Given the description of an element on the screen output the (x, y) to click on. 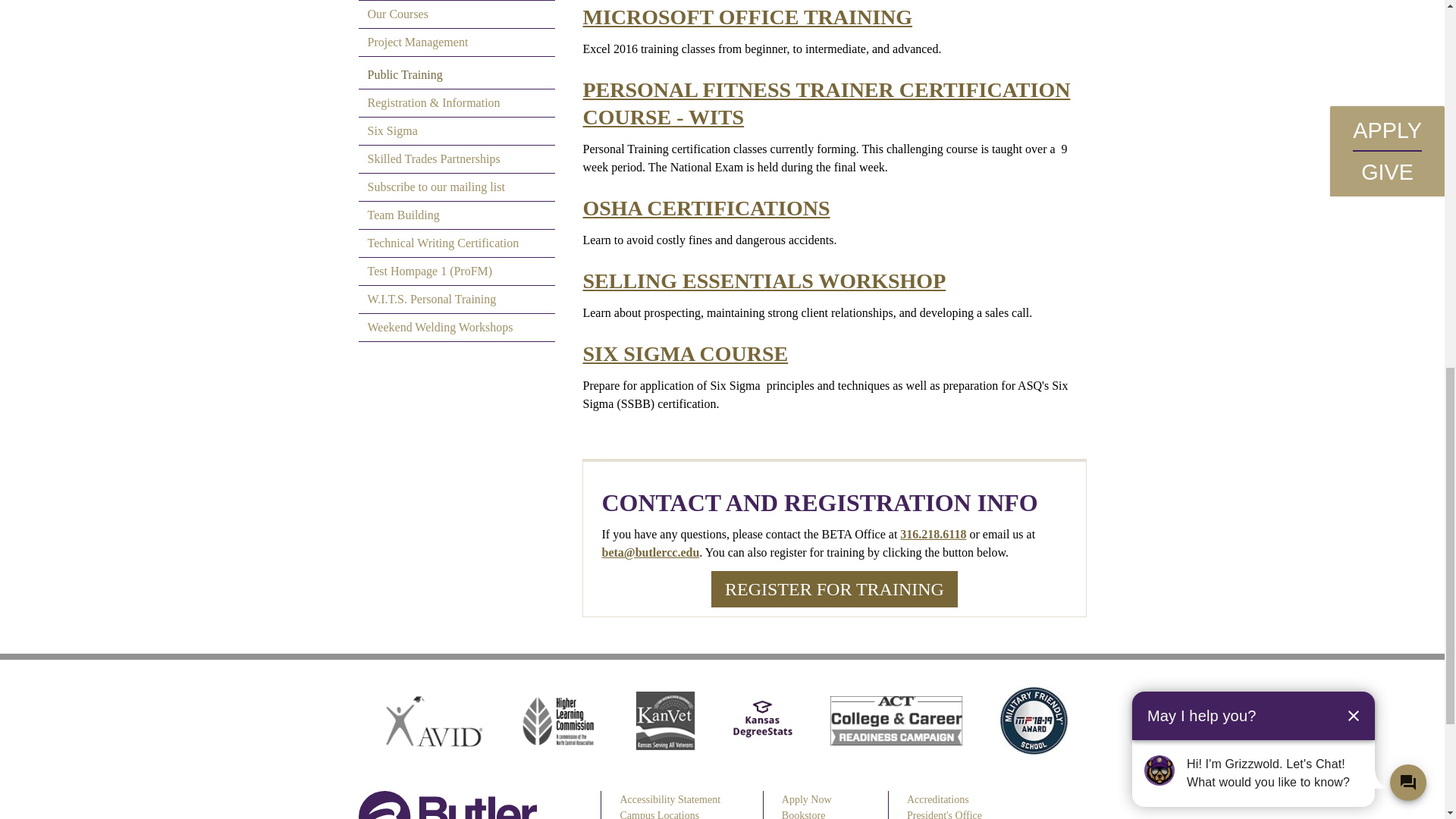
316.218.6118 (932, 533)
